Given the description of an element on the screen output the (x, y) to click on. 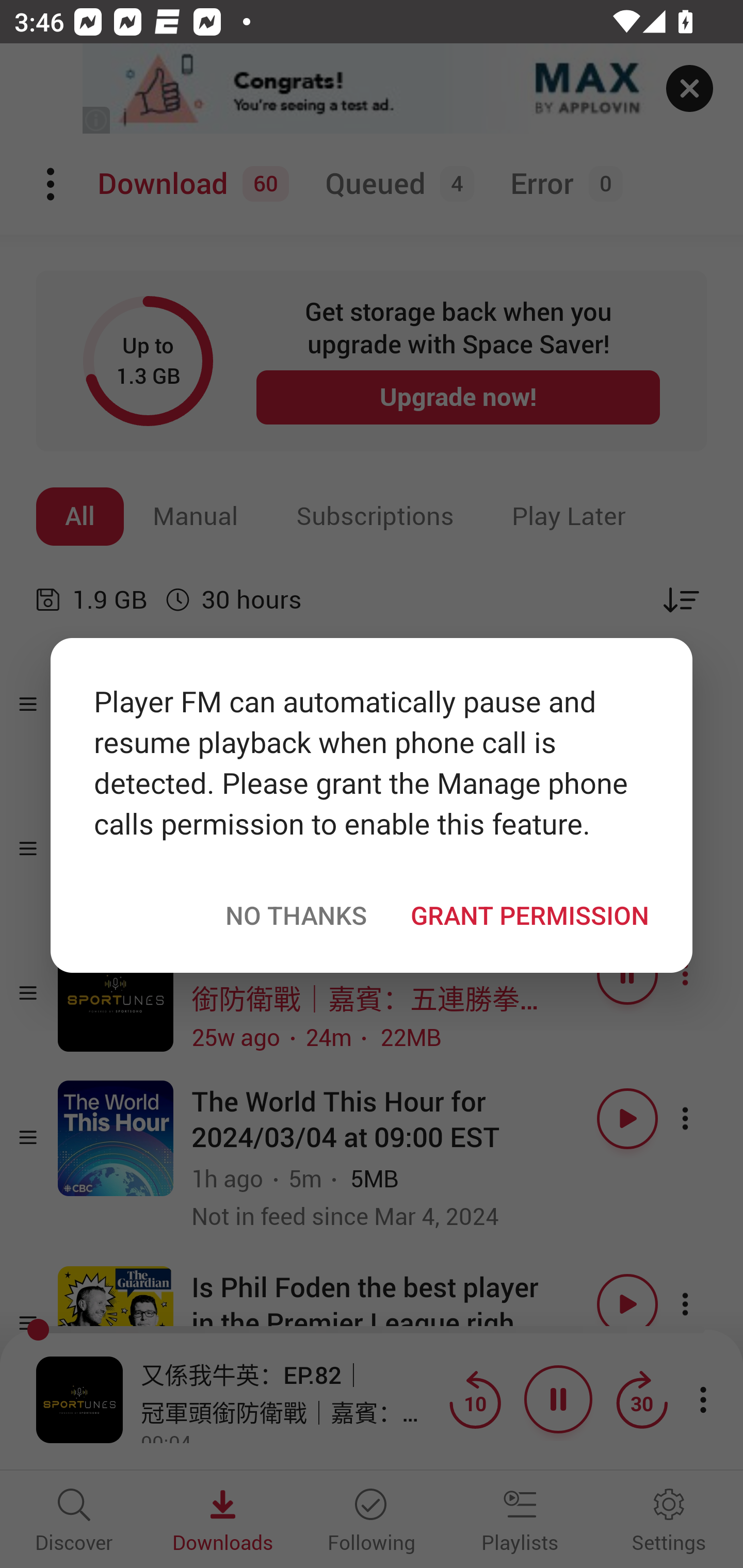
NO THANKS (295, 914)
GRANT PERMISSION (529, 914)
